Given the description of an element on the screen output the (x, y) to click on. 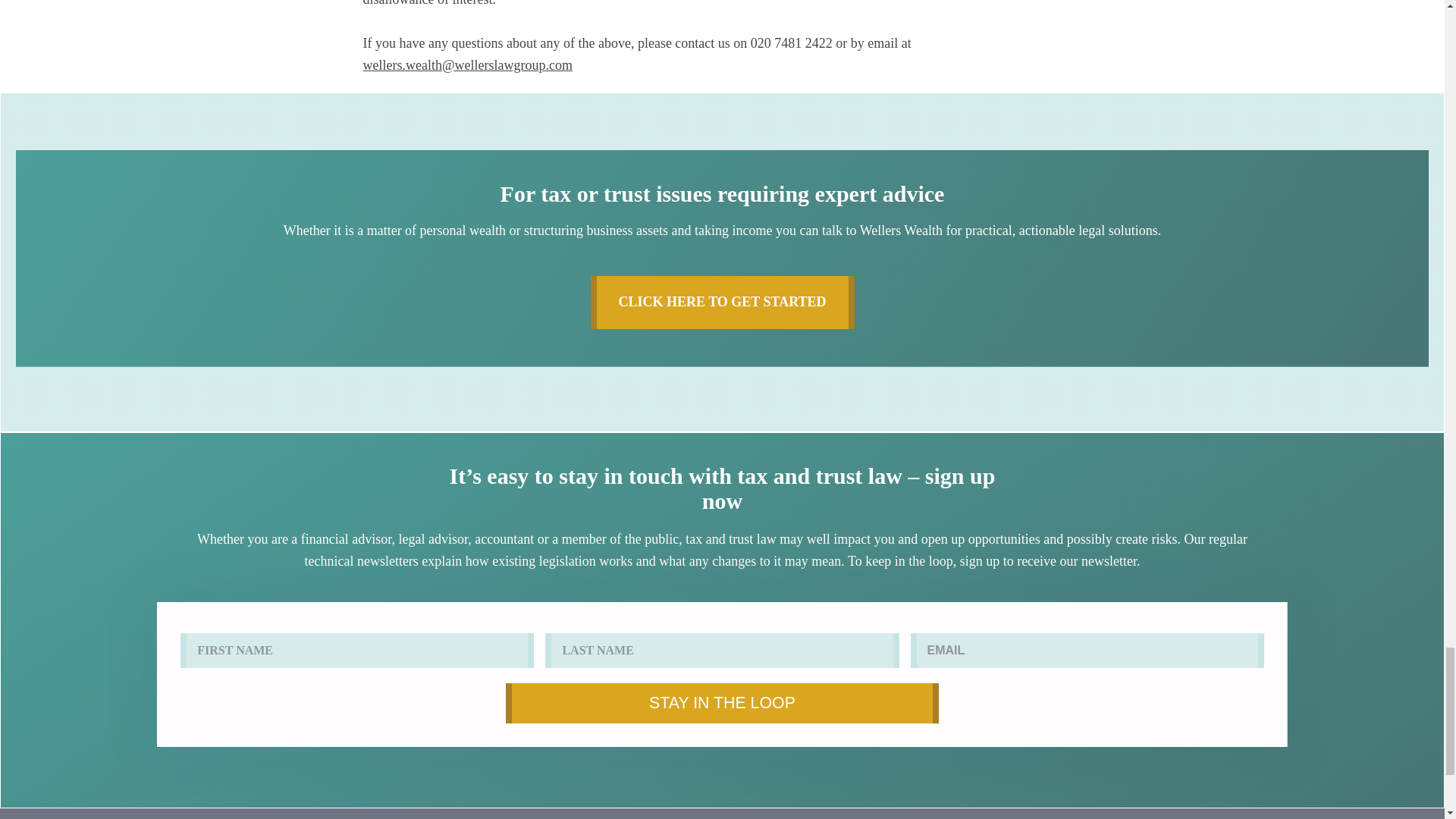
CLICK HERE TO GET STARTED (721, 302)
STAY IN THE LOOP (722, 703)
